Given the description of an element on the screen output the (x, y) to click on. 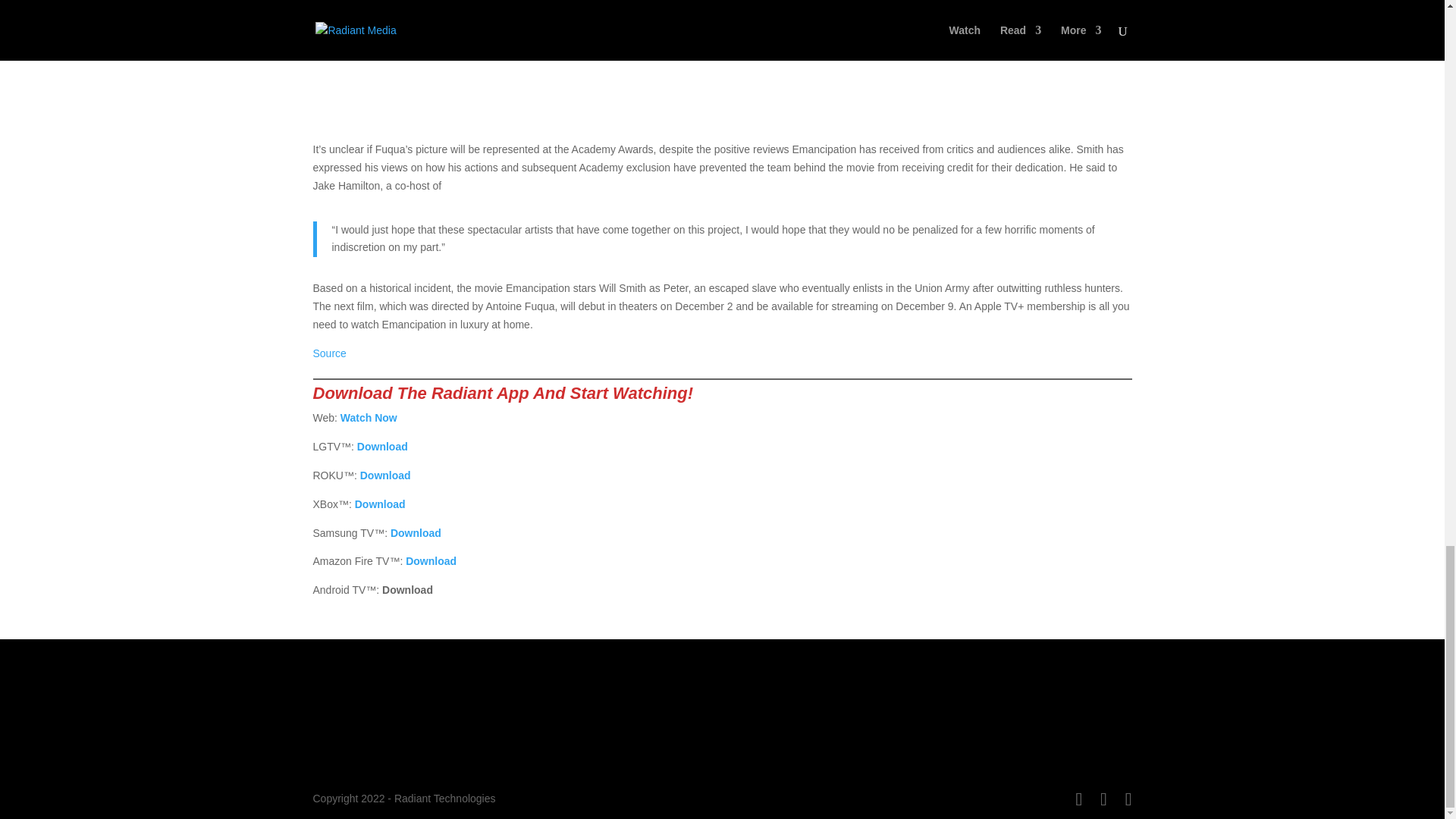
Download (381, 446)
Download (380, 503)
Download (415, 532)
Download (431, 561)
Source (329, 353)
Download (384, 475)
Watch Now (368, 417)
